Given the description of an element on the screen output the (x, y) to click on. 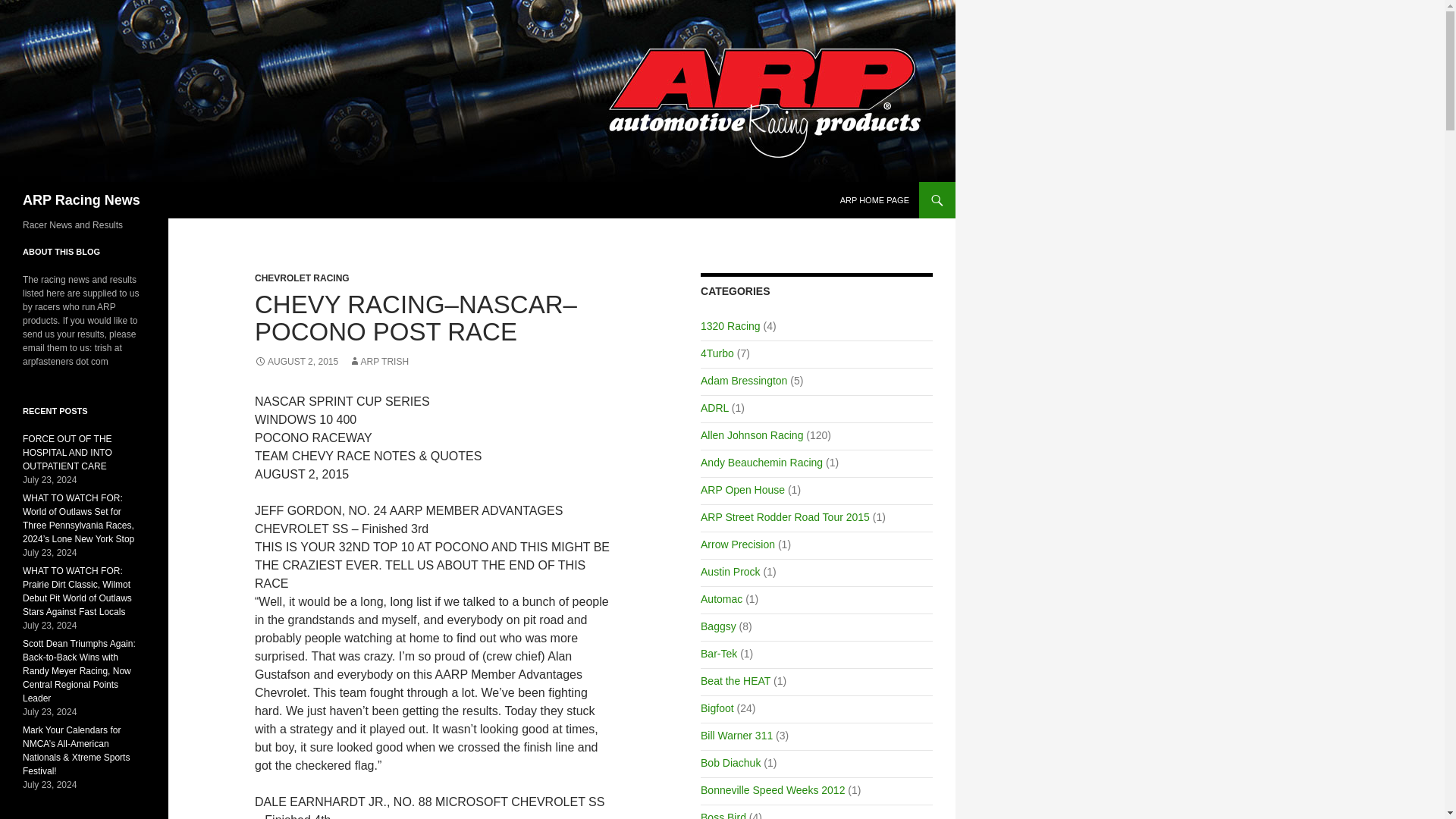
AUGUST 2, 2015 (295, 361)
Beat the HEAT (735, 680)
Austin Prock (730, 571)
Boss Bird (722, 815)
Bar-Tek (718, 653)
ARP Open House (742, 490)
Adam Bressington (743, 380)
Bob Diachuk (730, 762)
Automac (721, 598)
Bigfoot (716, 707)
ADRL (714, 408)
Baggsy (718, 625)
Bonneville Speed Weeks 2012 (772, 789)
